Given the description of an element on the screen output the (x, y) to click on. 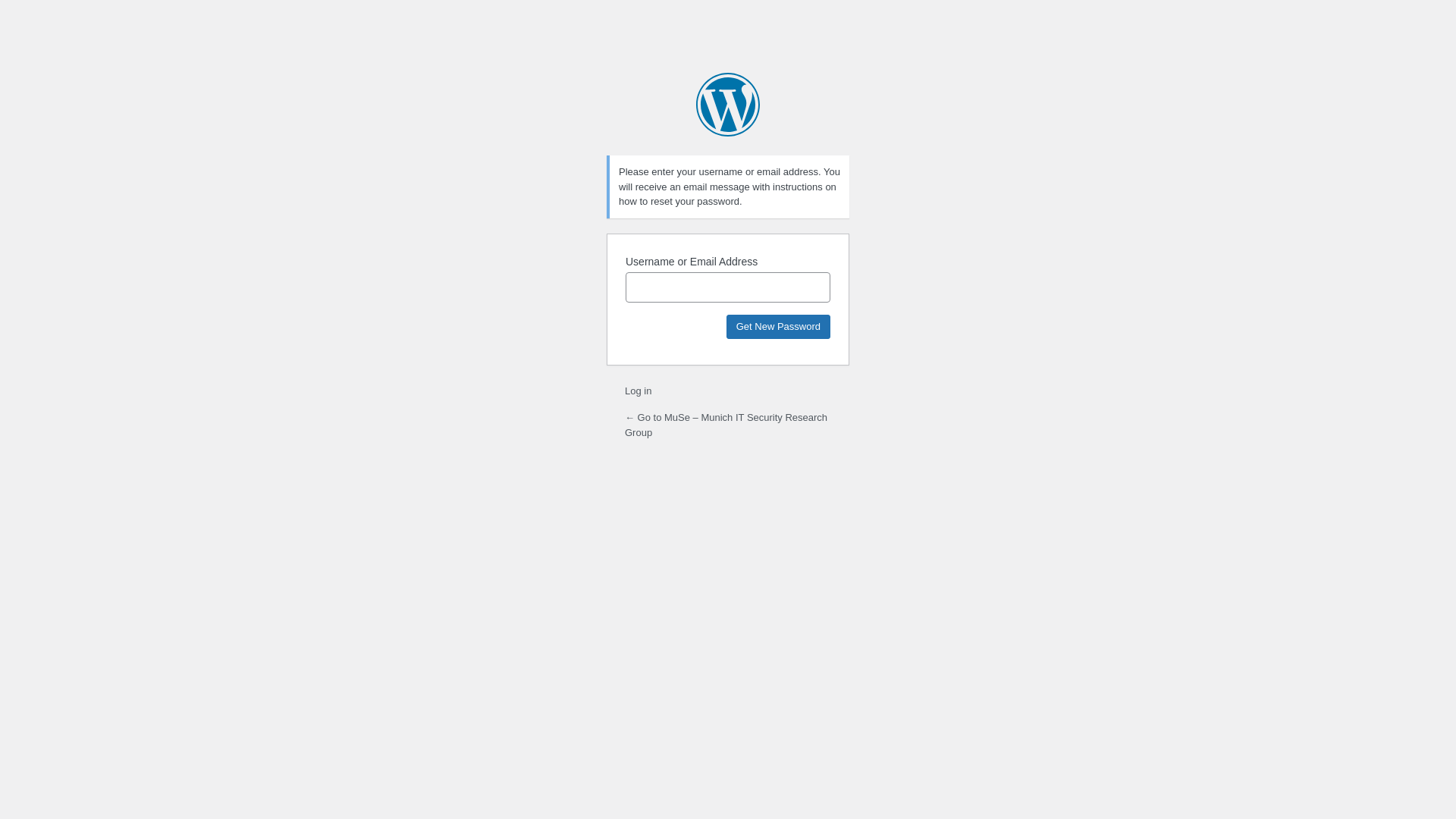
Get New Password Element type: text (778, 325)
Powered by WordPress Element type: text (727, 104)
Log in Element type: text (637, 390)
